Given the description of an element on the screen output the (x, y) to click on. 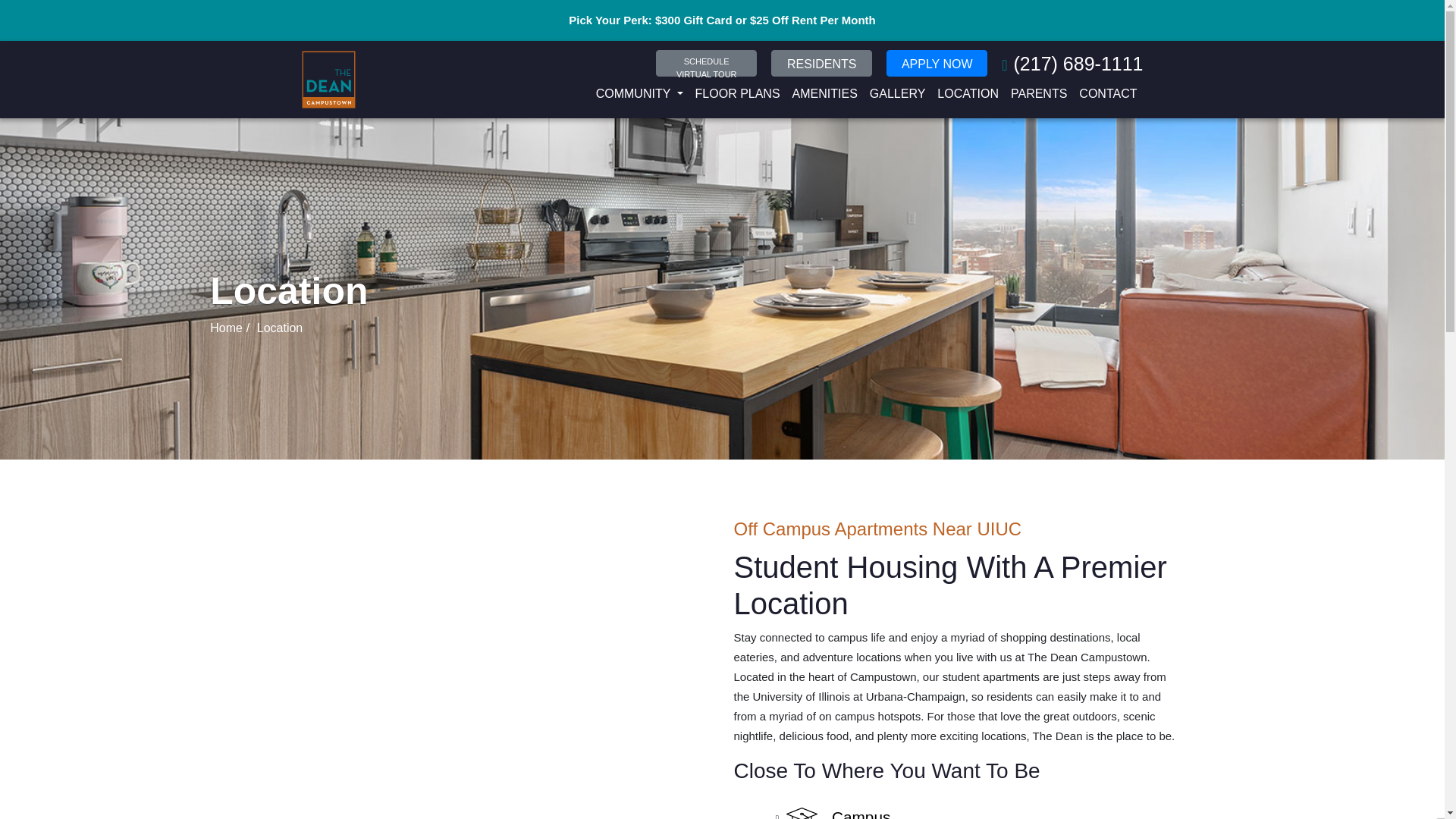
APPLY NOW (706, 62)
Campus (936, 62)
GALLERY (836, 812)
COMMUNITY (897, 93)
Home (638, 93)
FLOOR PLANS (226, 328)
CONTACT (737, 93)
LOCATION (1107, 93)
RESIDENTS (967, 93)
AMENITIES (821, 62)
PARENTS (824, 93)
